Given the description of an element on the screen output the (x, y) to click on. 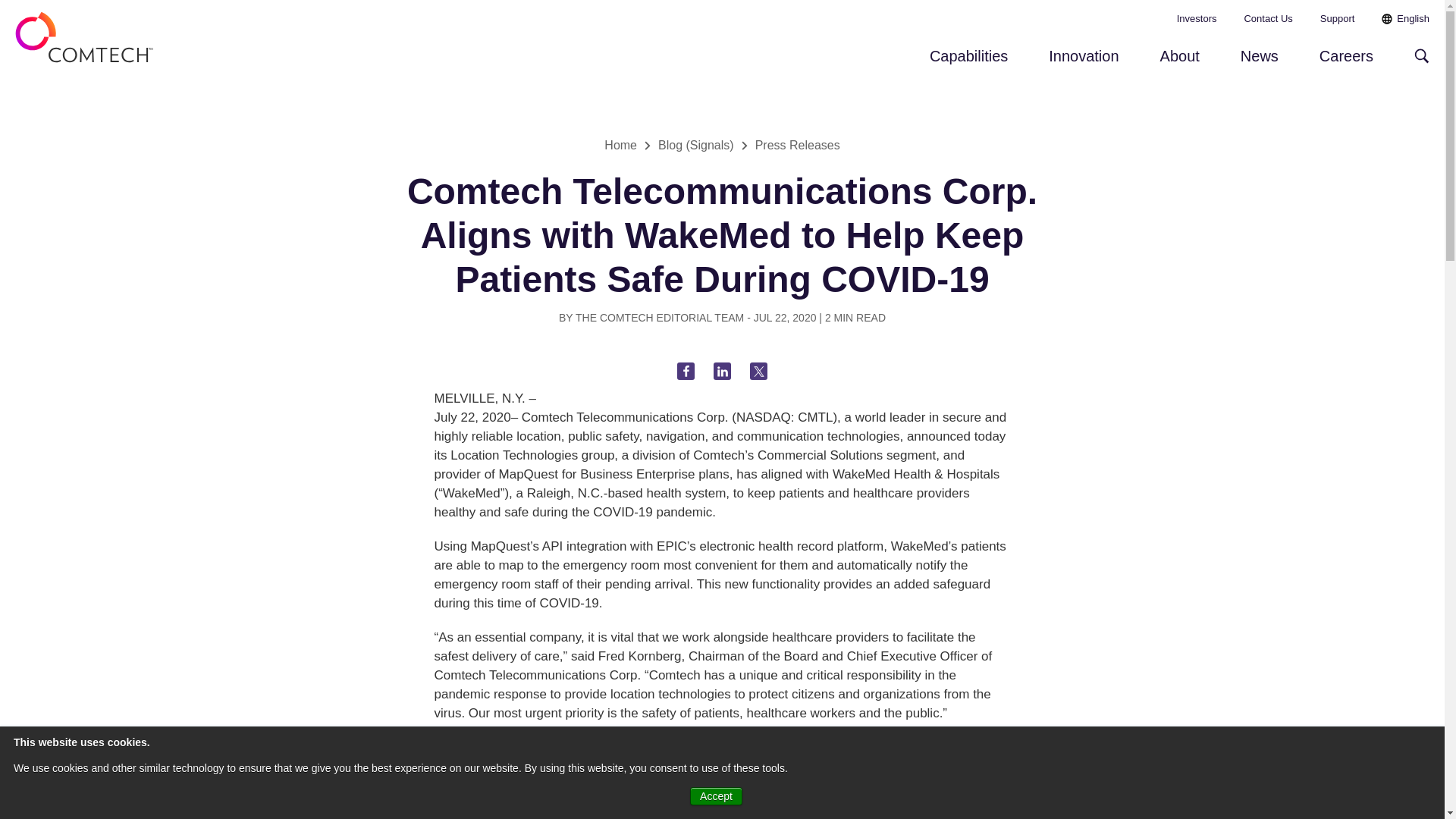
English (1405, 18)
Capabilities (967, 62)
Support (1337, 18)
English (1405, 18)
Accept (716, 796)
Investors (1196, 18)
Contact Us (1267, 18)
